Given the description of an element on the screen output the (x, y) to click on. 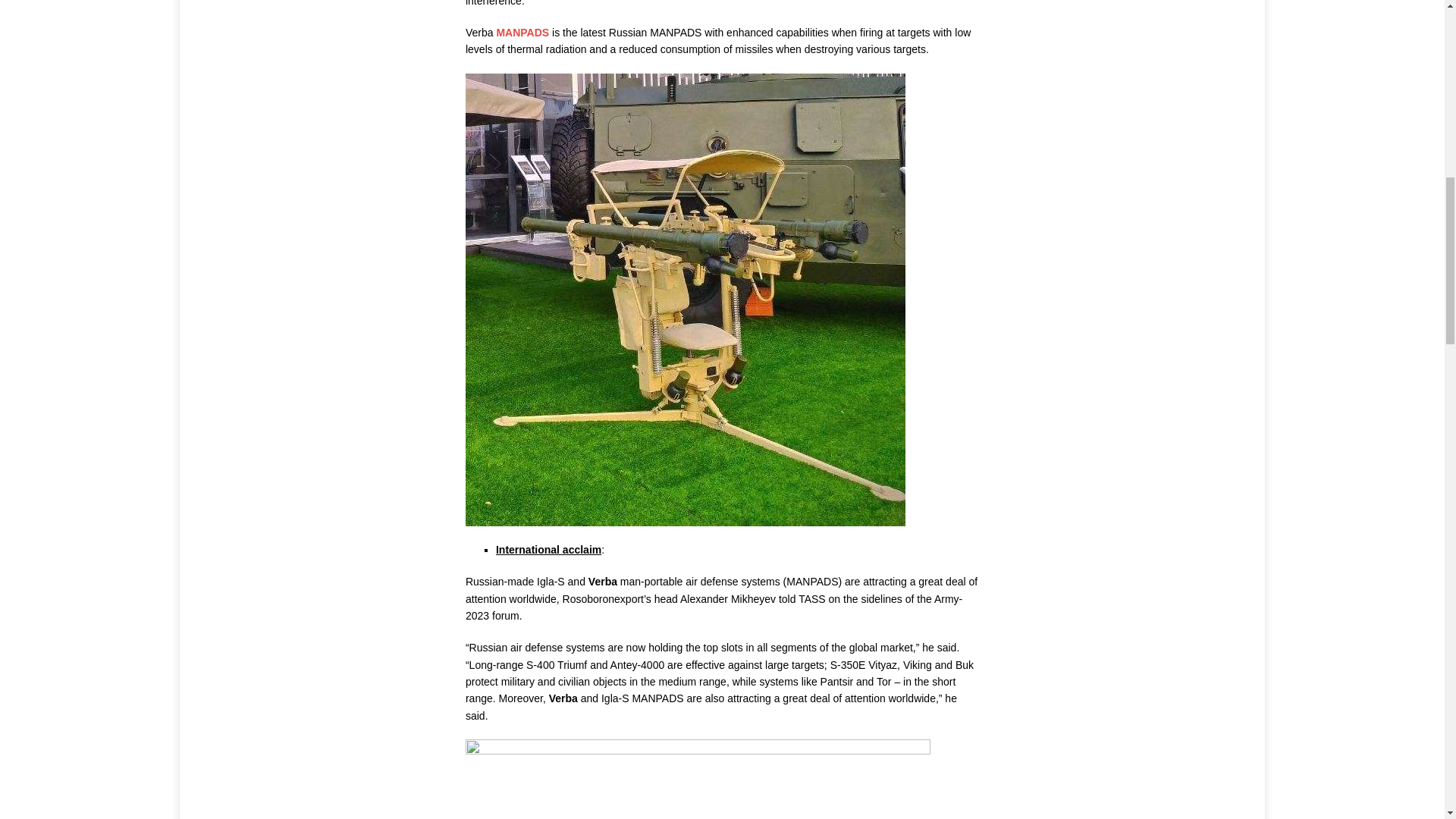
MANPADS (522, 32)
